Given the description of an element on the screen output the (x, y) to click on. 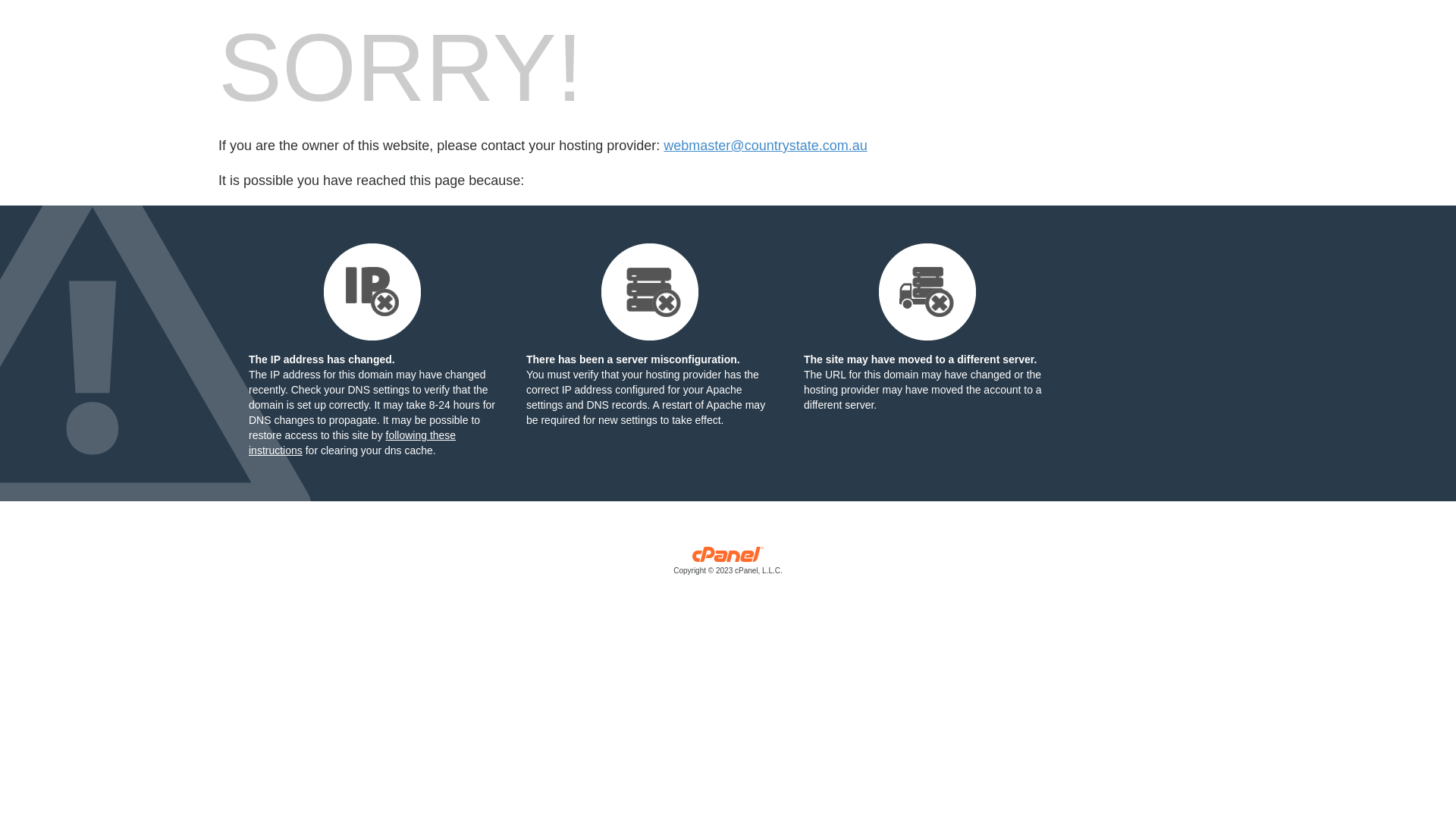
following these instructions Element type: text (351, 442)
webmaster@countrystate.com.au Element type: text (764, 145)
